Given the description of an element on the screen output the (x, y) to click on. 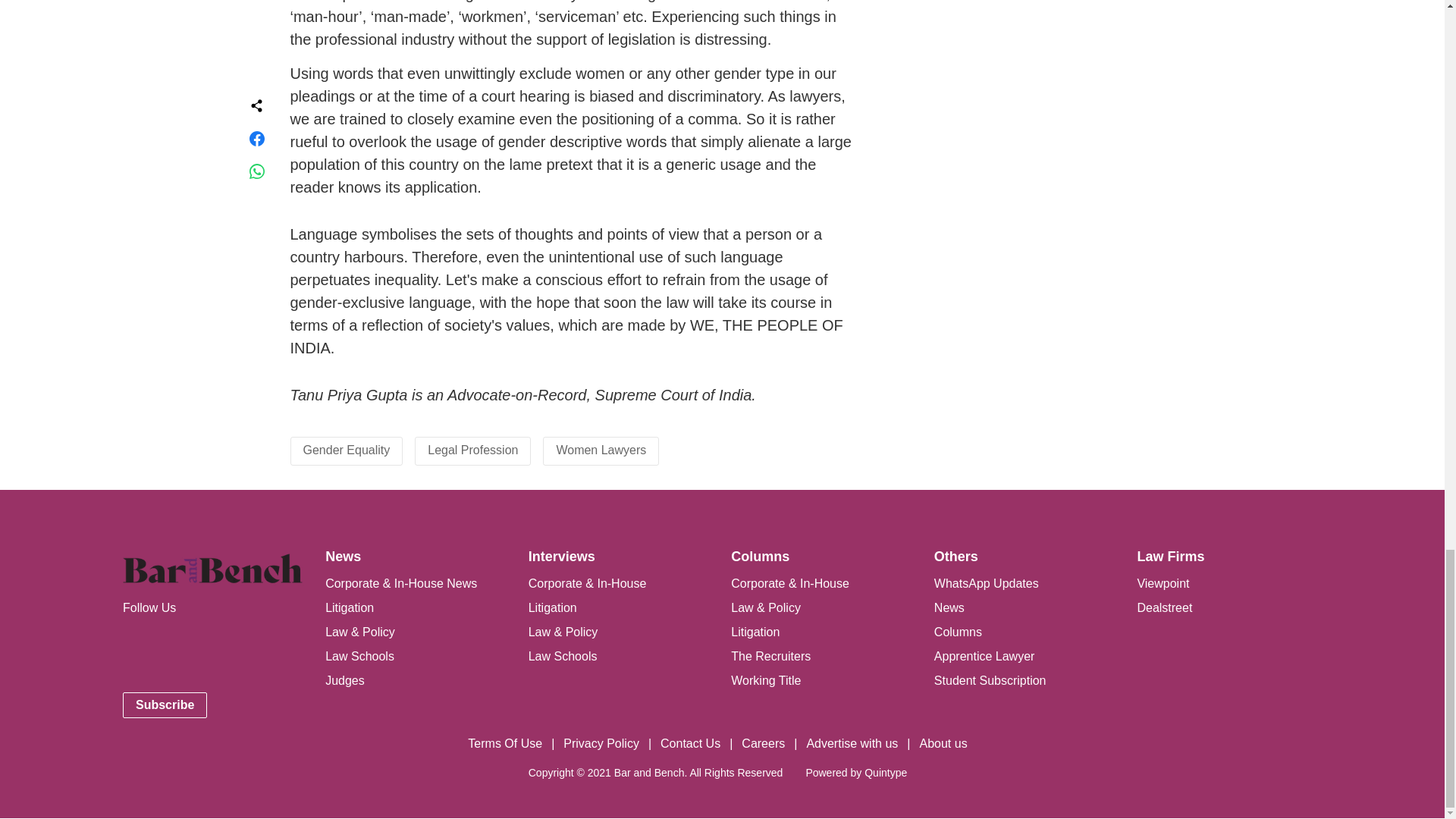
Women Lawyers (601, 449)
Gender Equality (346, 449)
Litigation (349, 607)
News (342, 556)
Legal Profession (473, 449)
